Given the description of an element on the screen output the (x, y) to click on. 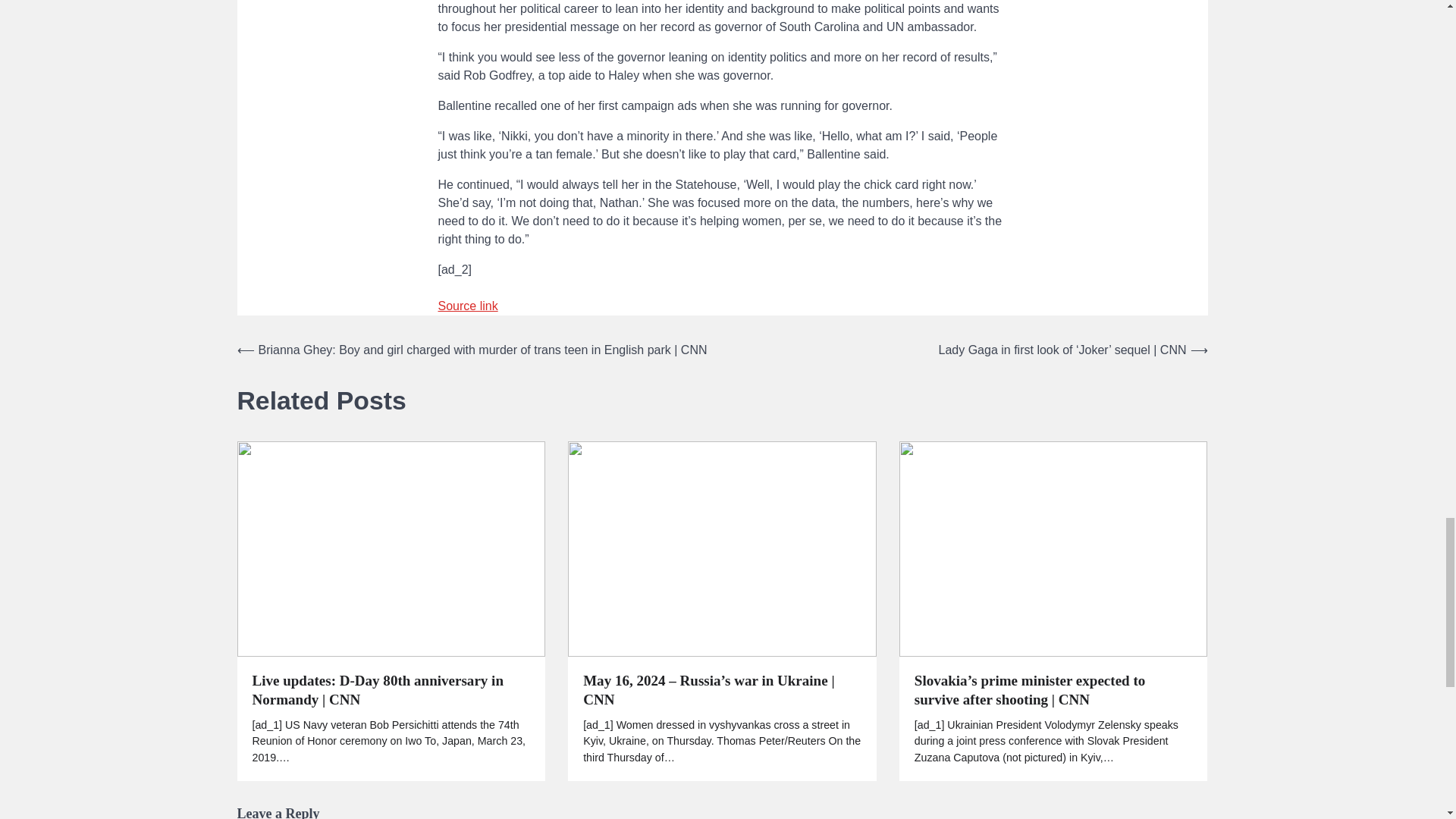
Source link (467, 305)
